Given the description of an element on the screen output the (x, y) to click on. 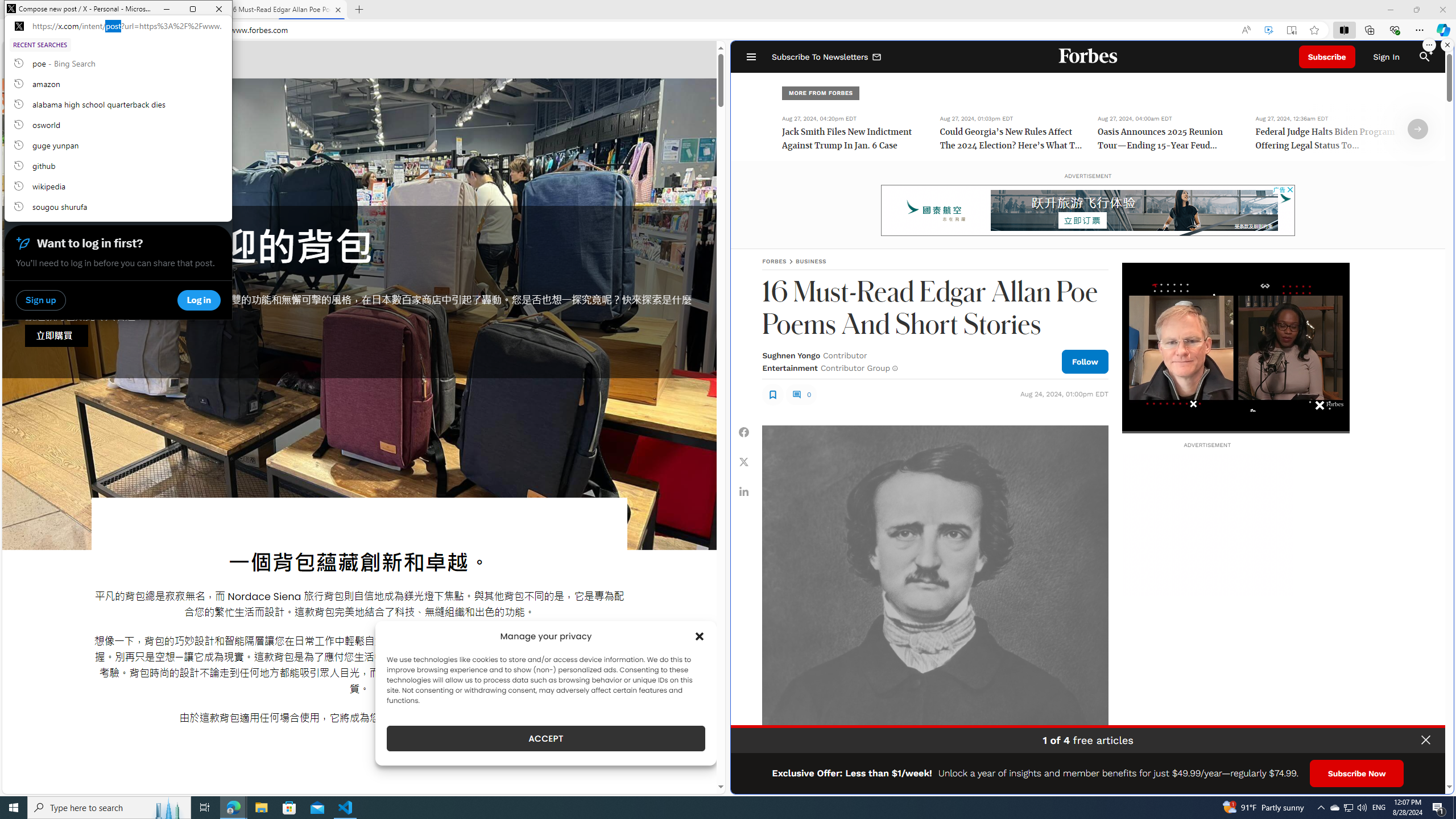
Class: fs-icon fs-icon--info (894, 368)
Q2790: 100% (1347, 807)
Notification Chevron (1361, 807)
poe, recent searches from history (1320, 807)
Privacy (117, 63)
More options. (1416, 781)
Arrow Right (1428, 45)
Entertainment (1417, 129)
Class: fs-icon fs-icon--xCorp (789, 367)
